Given the description of an element on the screen output the (x, y) to click on. 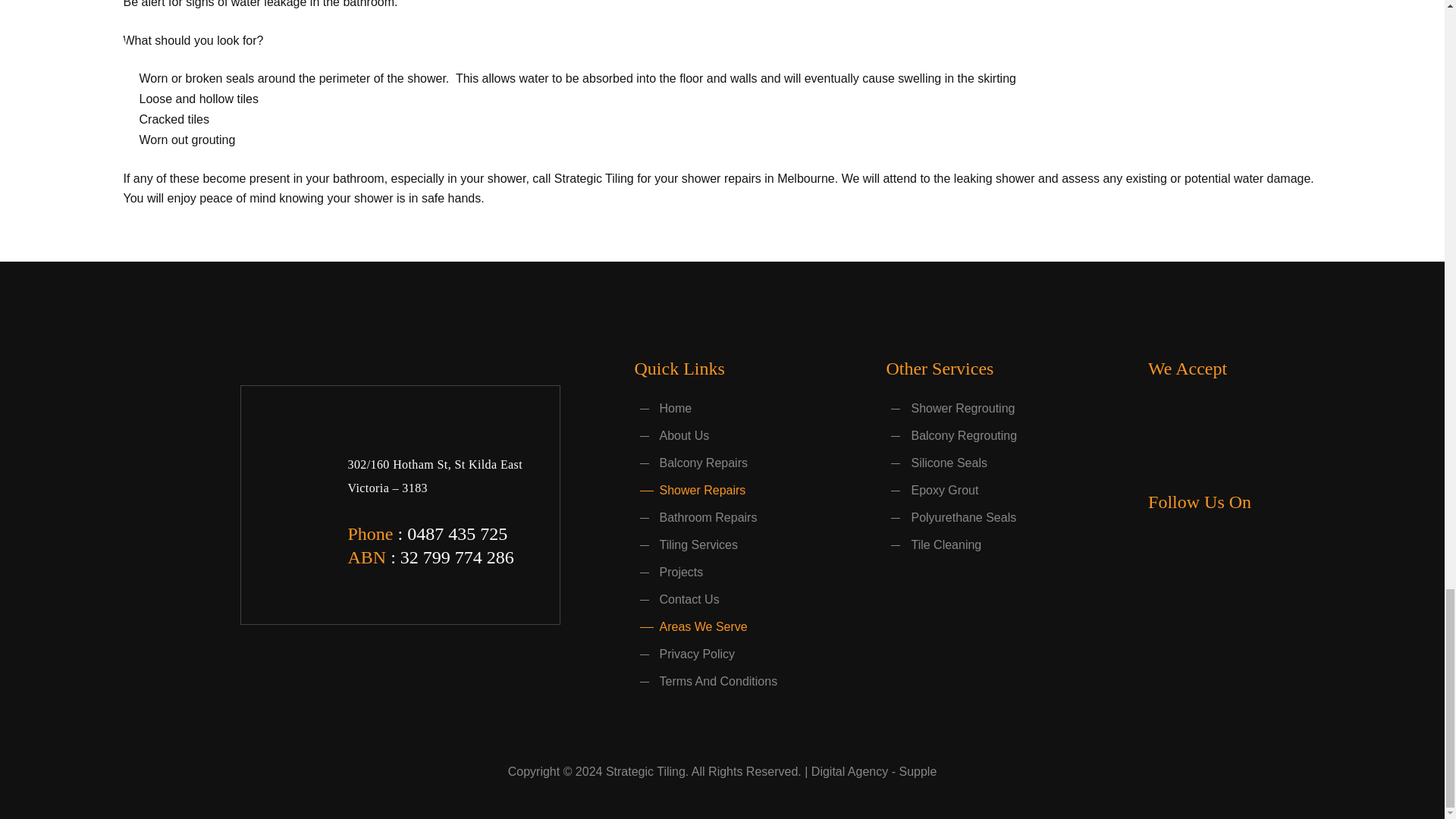
Shower Repairs (689, 490)
: 0487 435 725 (449, 533)
Home (662, 408)
Tiling Services (684, 544)
About Us (671, 435)
Bathroom Repairs (695, 517)
Balcony Repairs (690, 462)
